Given the description of an element on the screen output the (x, y) to click on. 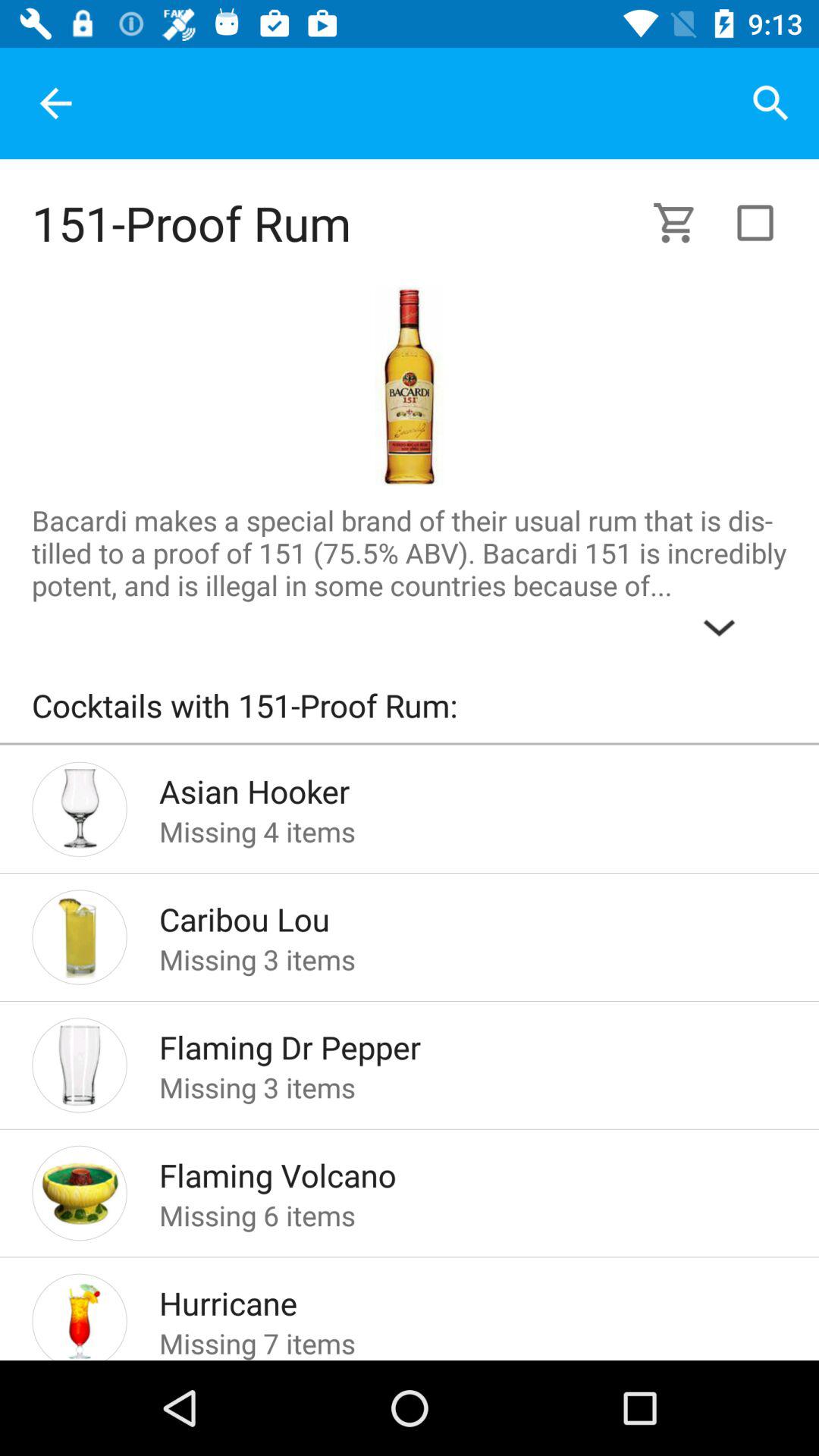
a shopping cart used for viewing what has been selected (683, 222)
